Given the description of an element on the screen output the (x, y) to click on. 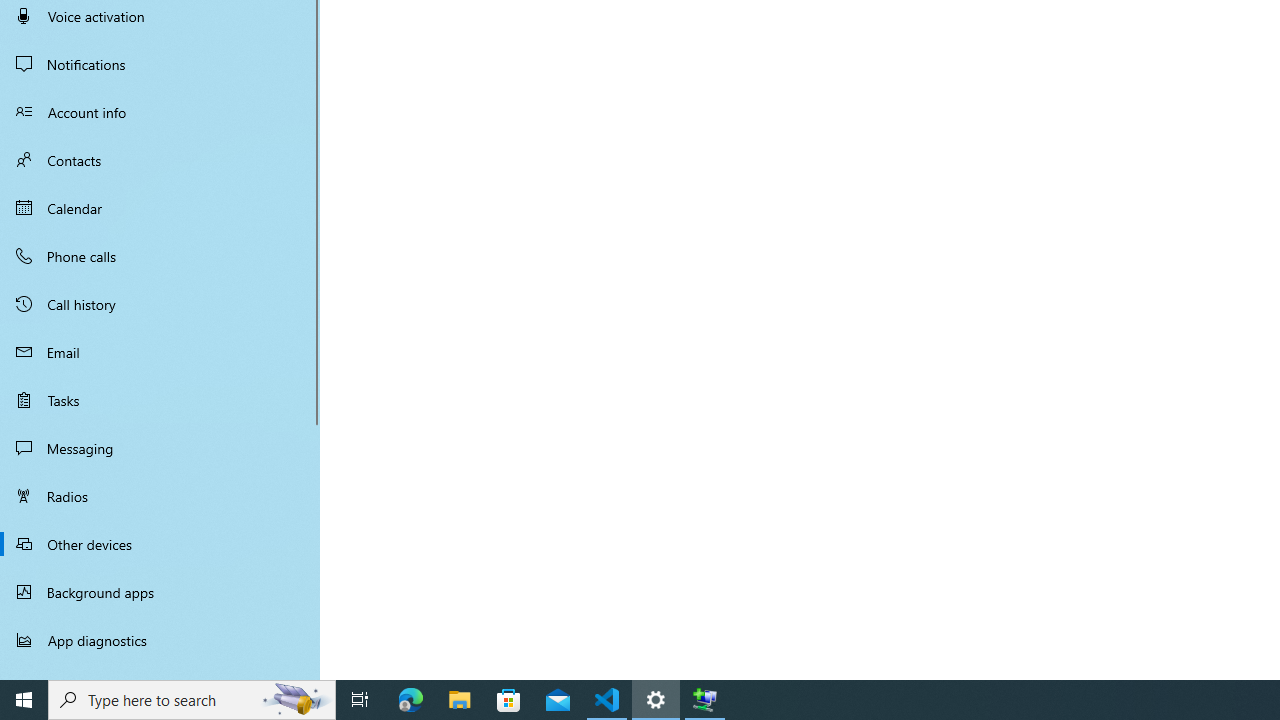
App diagnostics (160, 639)
Notifications (160, 63)
Messaging (160, 448)
Extensible Wizards Host Process - 1 running window (704, 699)
Email (160, 351)
Phone calls (160, 255)
Other devices (160, 543)
Contacts (160, 160)
Radios (160, 495)
